Given the description of an element on the screen output the (x, y) to click on. 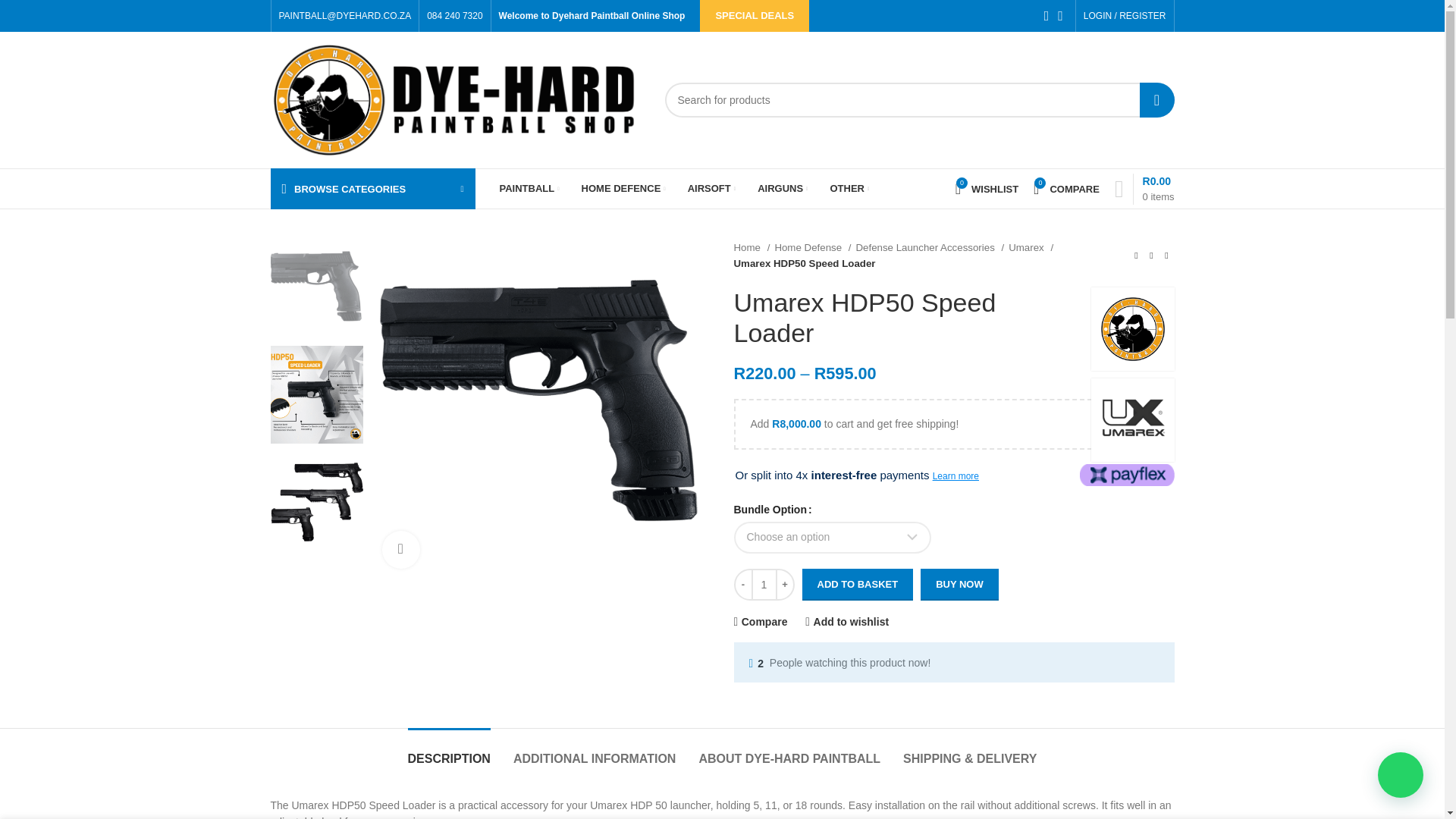
My Wishlist (986, 188)
Compare products (1066, 188)
My account (1124, 15)
Search for products (918, 99)
SEARCH (1155, 99)
084 240 7320 (453, 15)
Shopping cart (1144, 187)
SPECIAL DEALS (754, 15)
hdp50 speed loader (539, 409)
